Given the description of an element on the screen output the (x, y) to click on. 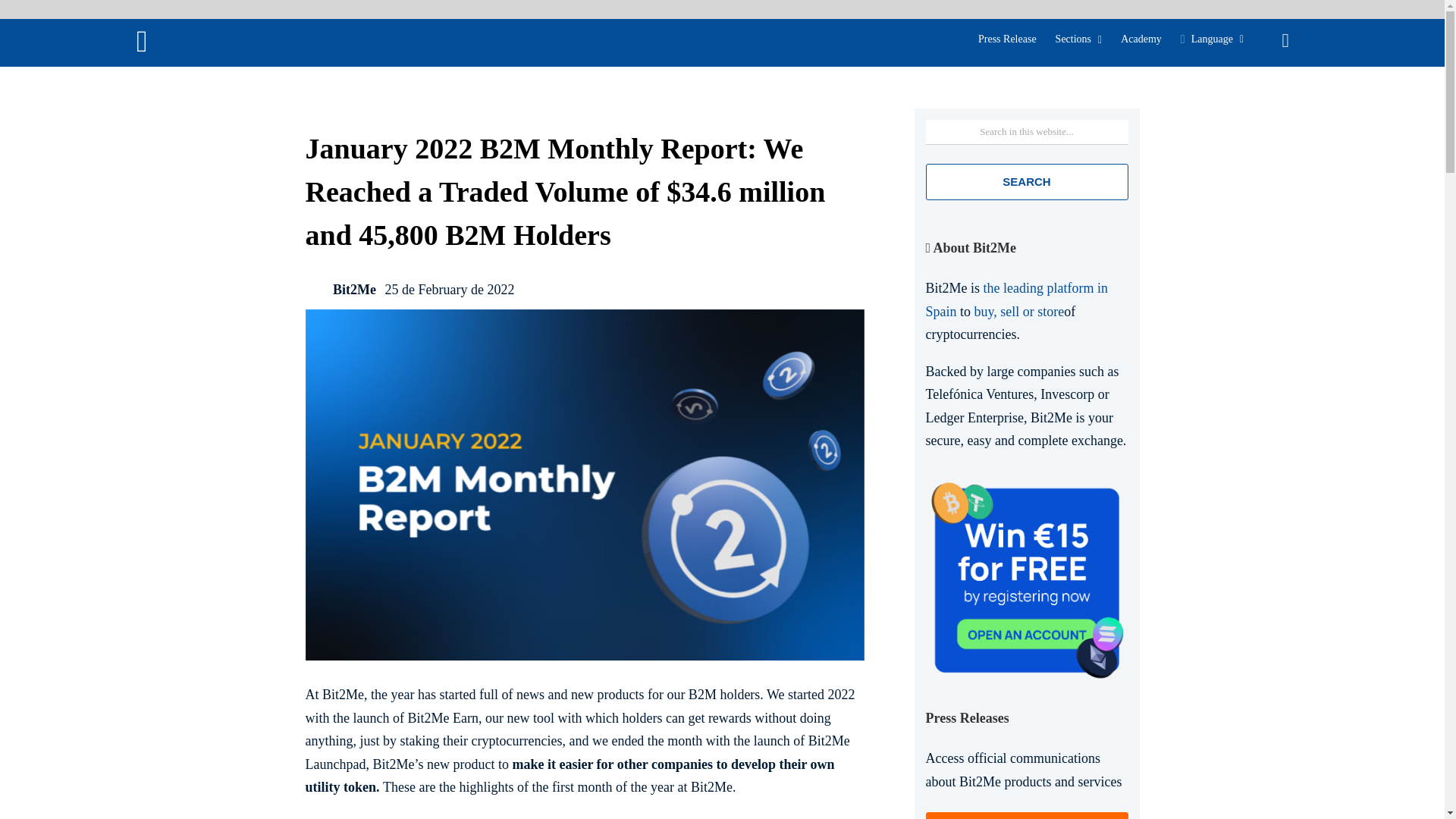
Academy (1141, 39)
SEARCH (1025, 181)
SEARCH (12, 12)
Press Release (1007, 39)
Language (1211, 39)
SEARCH (1025, 181)
Sections (1078, 39)
